Given the description of an element on the screen output the (x, y) to click on. 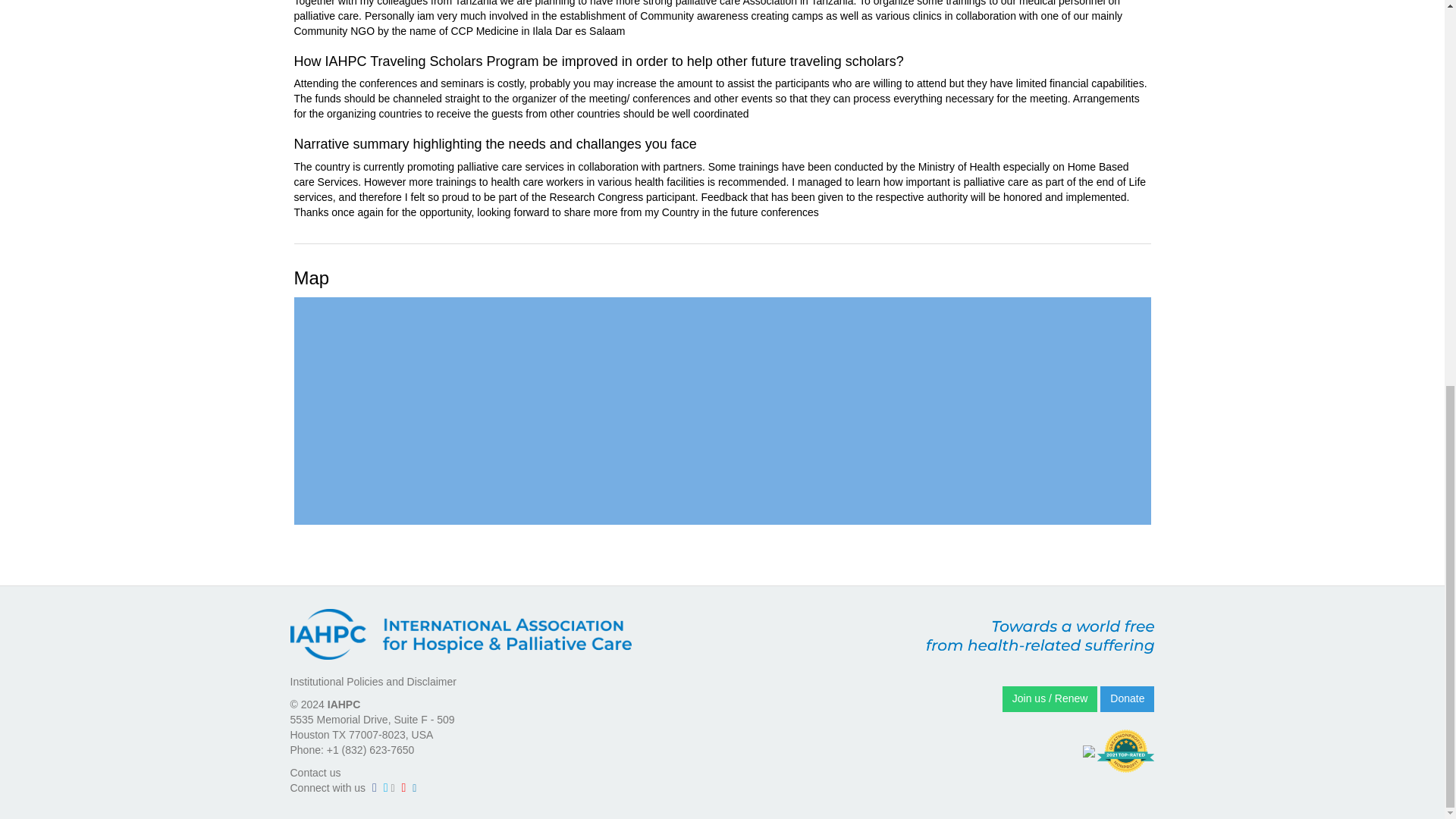
2021 Top-rated nonprofits and charities (1125, 750)
